Given the description of an element on the screen output the (x, y) to click on. 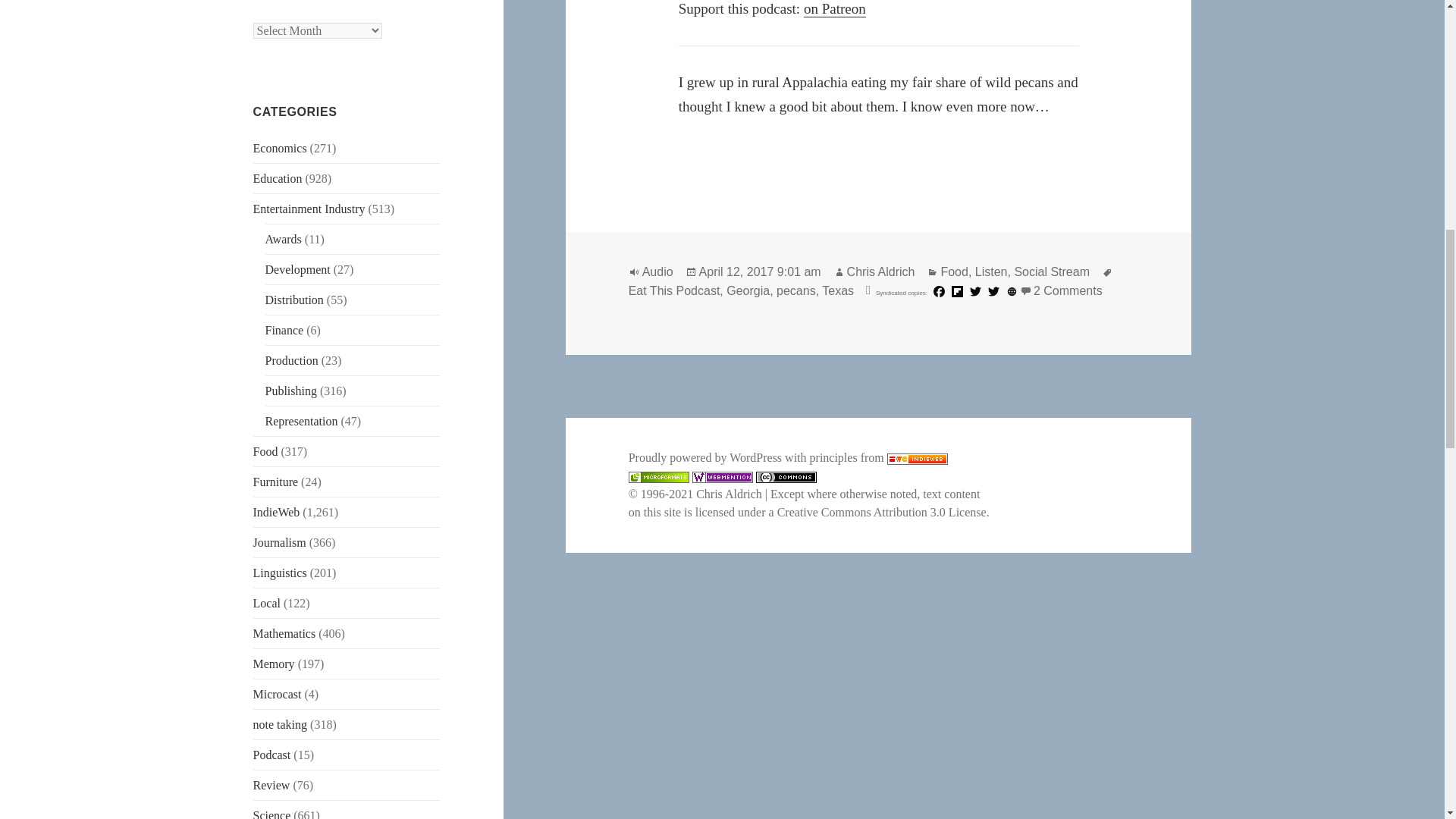
Flipboard (957, 291)
Twitter (975, 291)
Facebook (938, 291)
Twitter (993, 291)
